Given the description of an element on the screen output the (x, y) to click on. 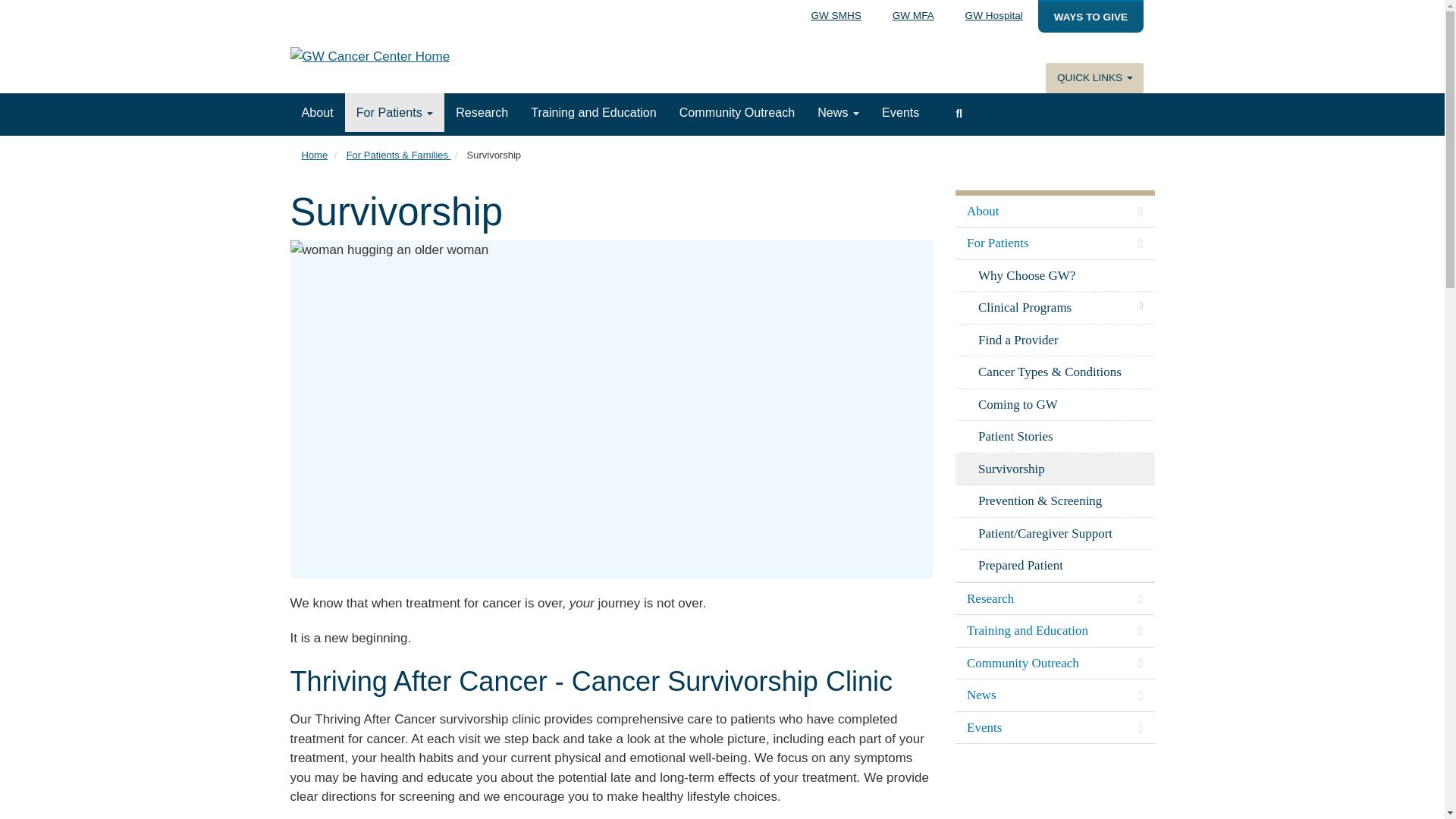
GW SMHS (835, 15)
SMHS Home (433, 57)
QUICK LINKS (1093, 78)
Research (481, 112)
Training and Education (592, 112)
WAYS TO GIVE (1090, 16)
Events (900, 112)
About (316, 112)
News (838, 112)
Community Outreach (737, 112)
For Patients (395, 112)
Home (315, 154)
GW Hospital (993, 15)
GW MFA (912, 15)
